Given the description of an element on the screen output the (x, y) to click on. 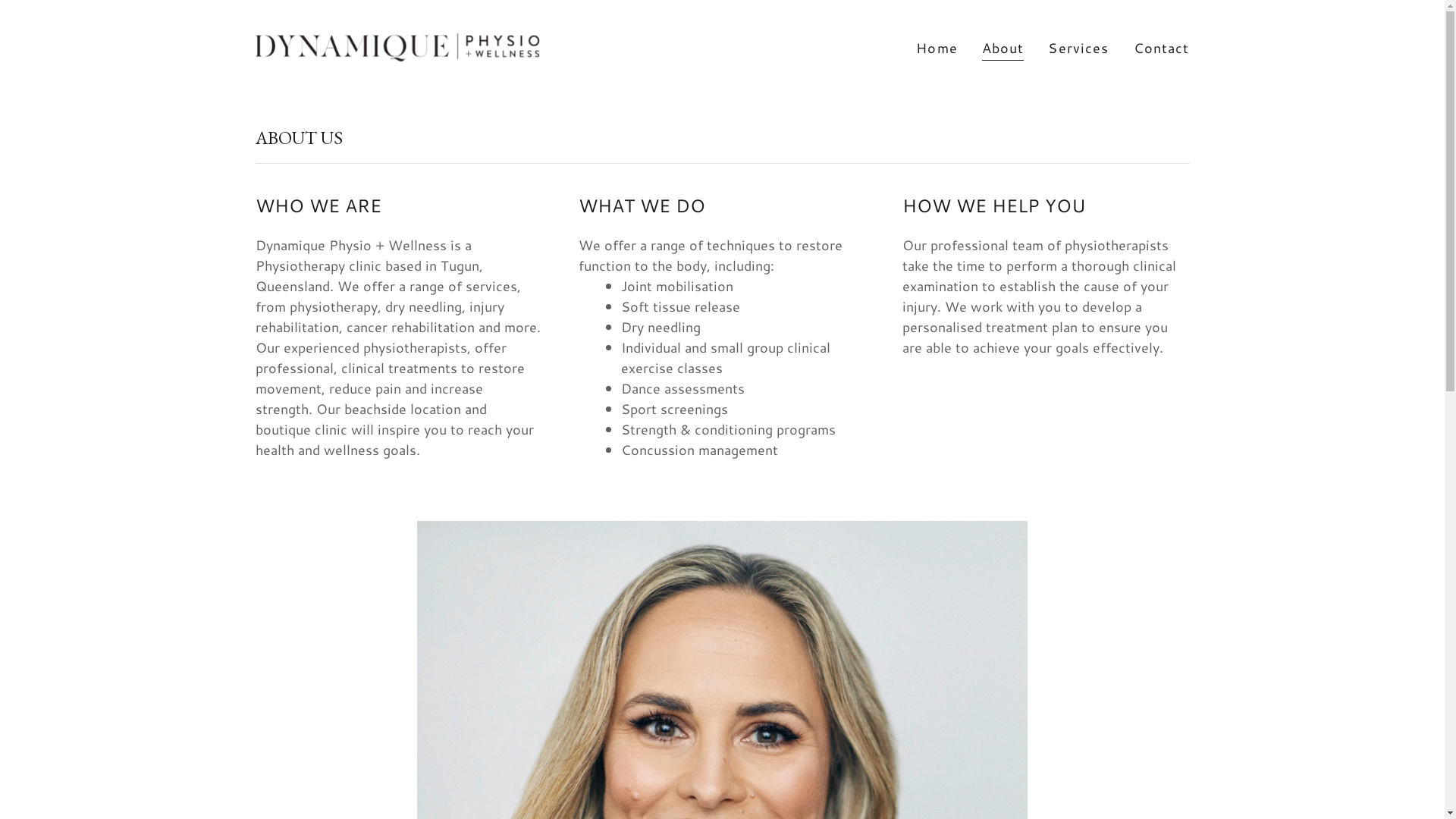
Dynamique Physiotherapy & Wellness Element type: hover (396, 45)
About Element type: text (1003, 48)
Services Element type: text (1078, 46)
Home Element type: text (936, 46)
Contact Element type: text (1161, 46)
